Given the description of an element on the screen output the (x, y) to click on. 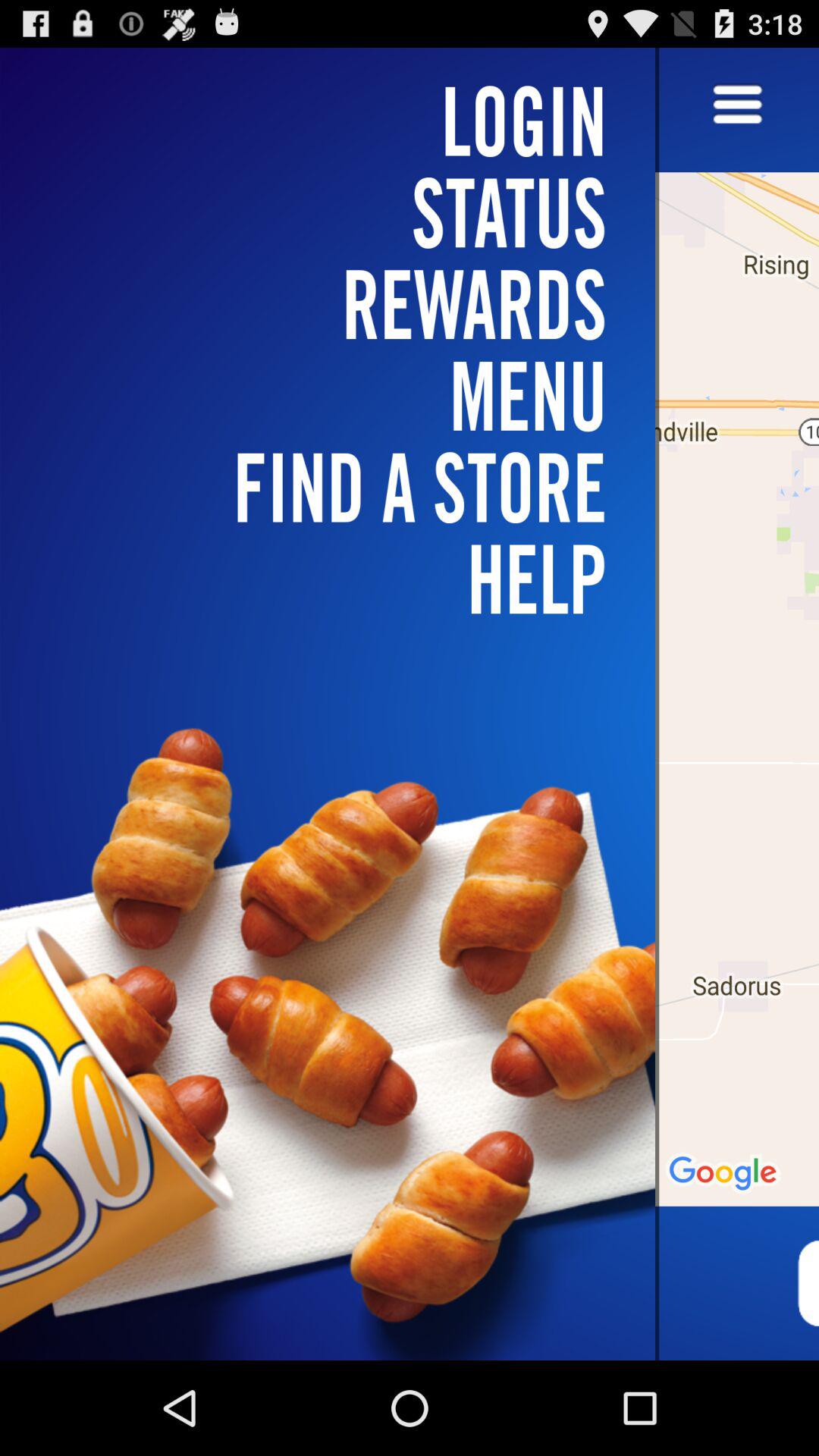
swipe to the rewards icon (336, 303)
